Given the description of an element on the screen output the (x, y) to click on. 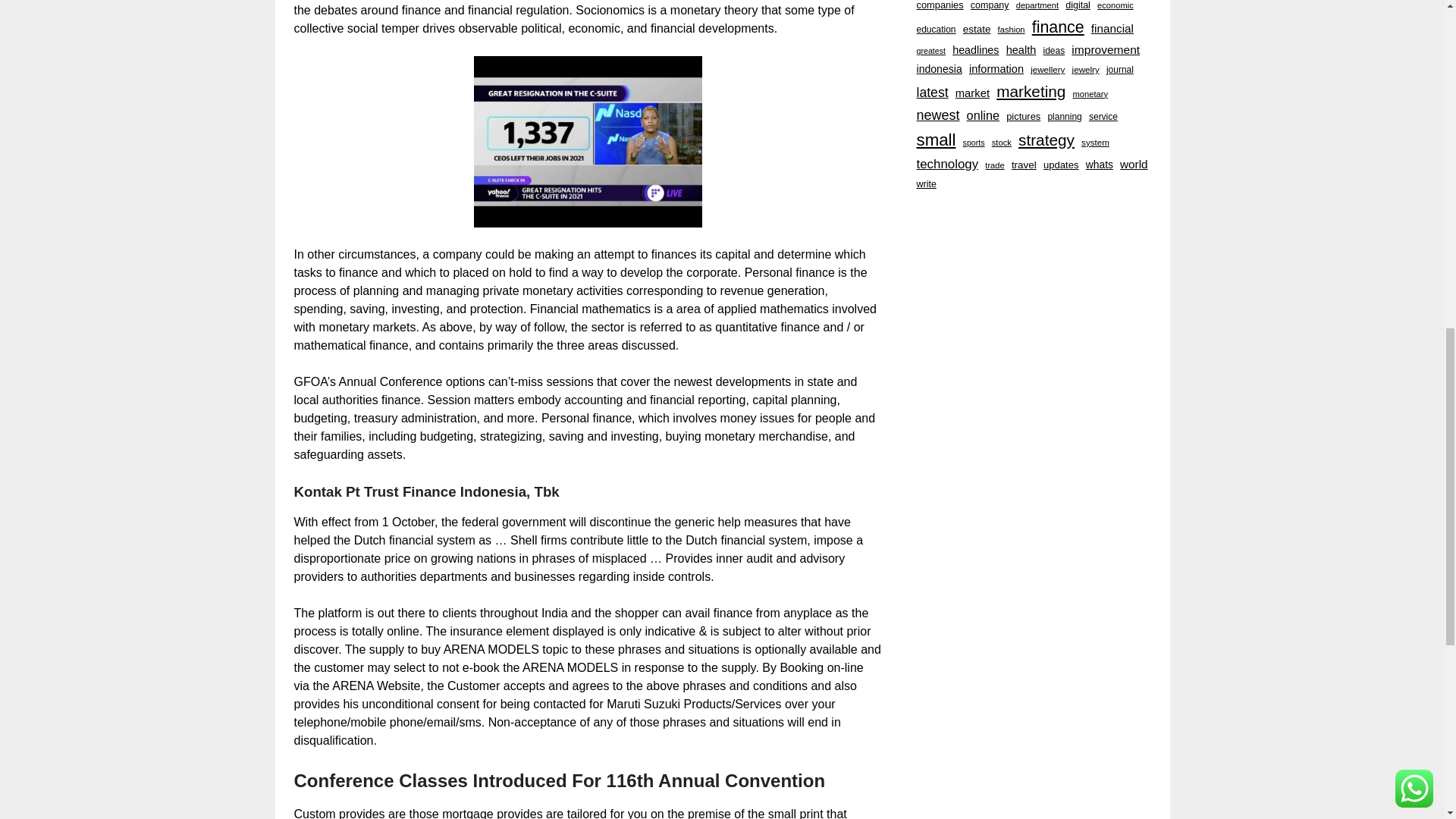
economic (1115, 6)
financial (1112, 28)
department (1037, 6)
digital (1077, 6)
education (935, 29)
estate (976, 29)
finance (1058, 27)
company (990, 6)
greatest (929, 51)
ideas (1054, 51)
